Given the description of an element on the screen output the (x, y) to click on. 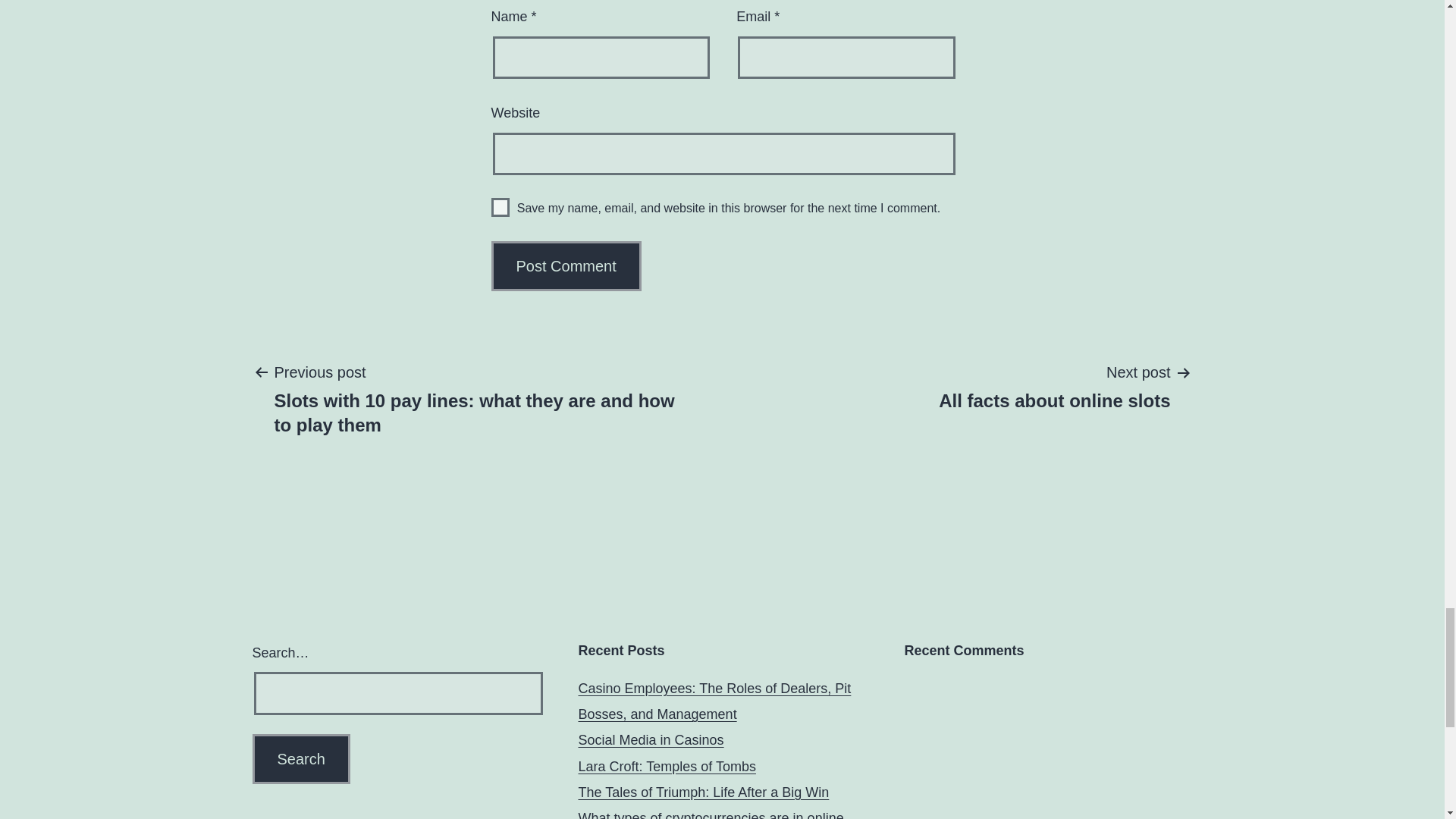
Search (300, 758)
Lara Croft: Temples of Tombs (666, 766)
Post Comment (1054, 385)
What types of cryptocurrencies are in online casinos? (567, 265)
The Tales of Triumph: Life After a Big Win (710, 814)
Search (703, 792)
yes (300, 758)
